Given the description of an element on the screen output the (x, y) to click on. 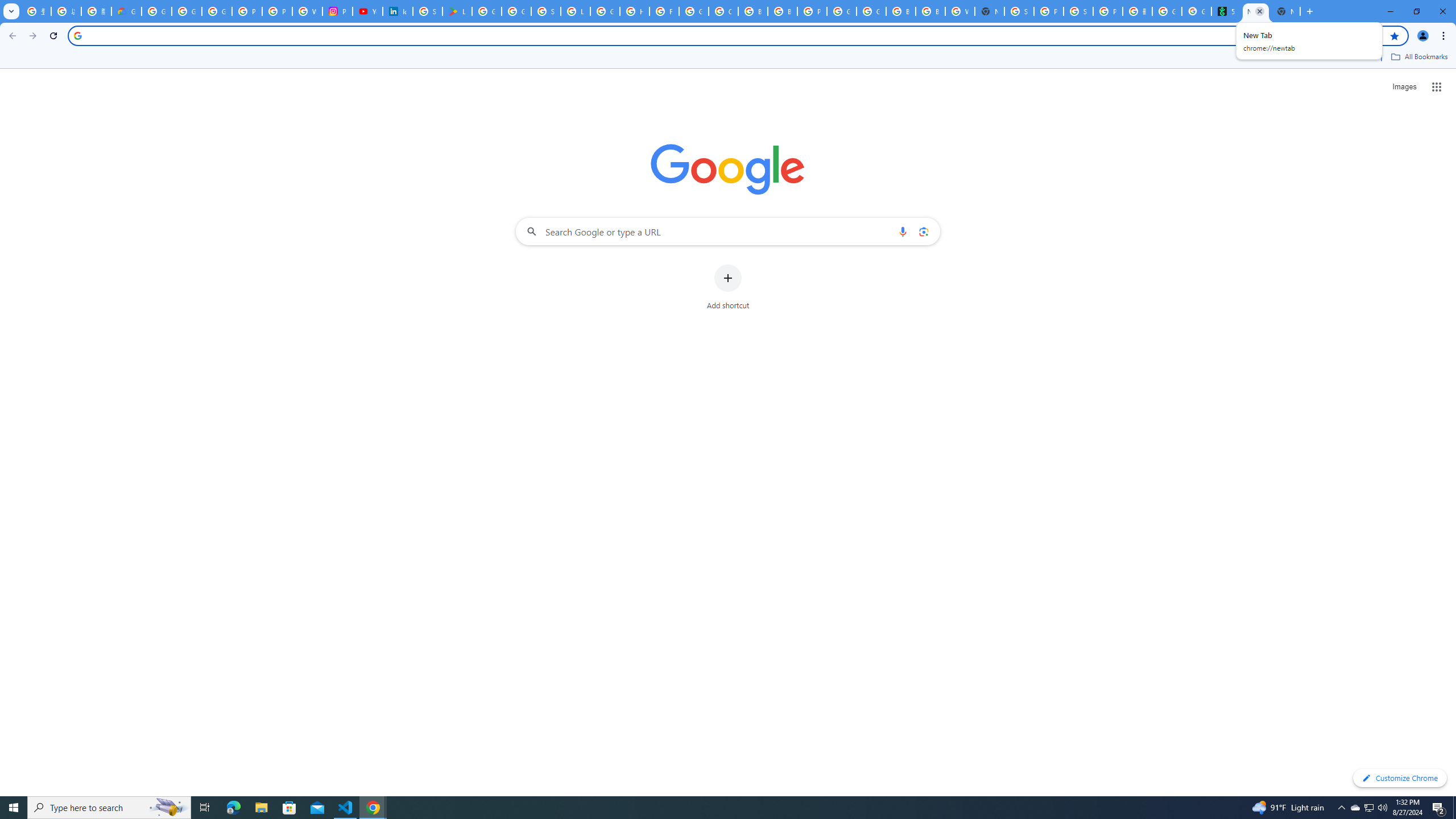
Browse Chrome as a guest - Computer - Google Chrome Help (900, 11)
Google Cloud Platform (871, 11)
New Tab (989, 11)
YouTube Culture & Trends - On The Rise: Handcam Videos (367, 11)
Sign in - Google Accounts (1018, 11)
